Given the description of an element on the screen output the (x, y) to click on. 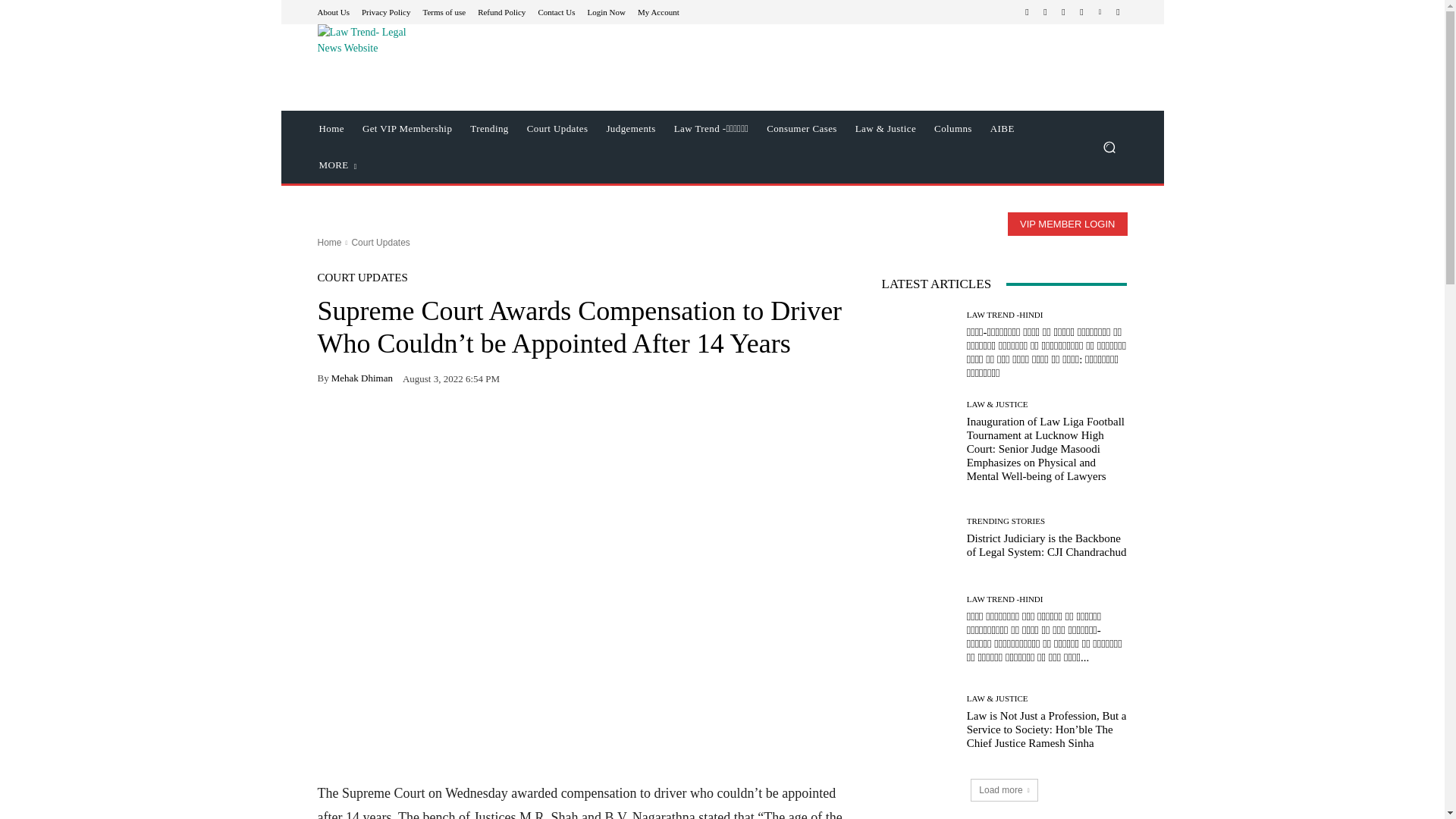
Refund Policy (501, 11)
Telegram (1062, 12)
Terms of use (443, 11)
Login Now (607, 11)
Law Trend- Legal News Website (362, 59)
My Account (658, 11)
Twitter (1080, 12)
About Us (333, 11)
Privacy Policy (385, 11)
Instagram (1044, 12)
